Given the description of an element on the screen output the (x, y) to click on. 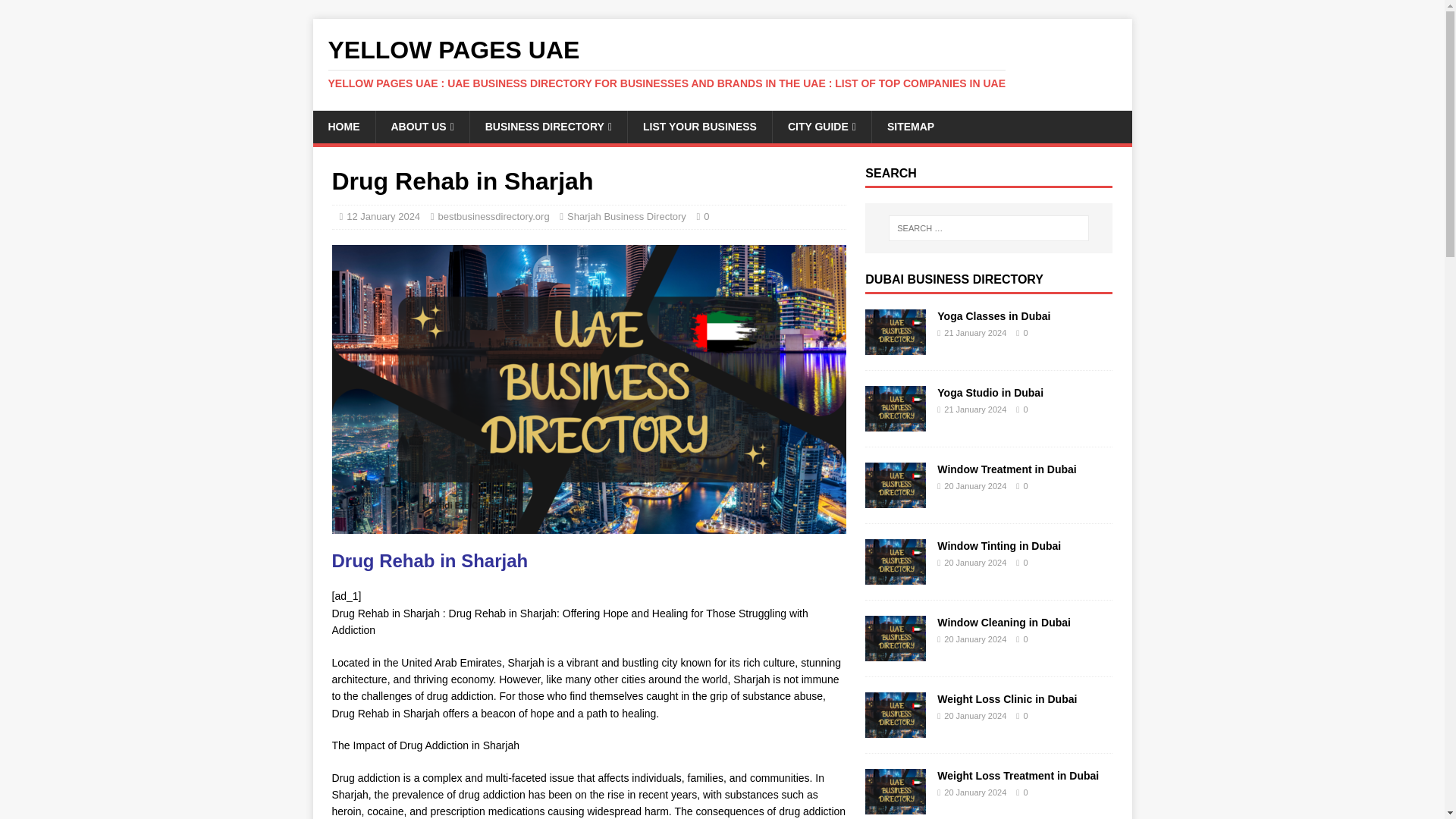
Weight Loss Clinic in Dubai (1007, 698)
Window Cleaning in Dubai (895, 653)
Yoga Studio in Dubai (895, 422)
Window Treatment in Dubai (895, 499)
HOME (343, 126)
Yoga Classes in Dubai (895, 346)
Weight Loss Clinic in Dubai (895, 729)
Window Tinting in Dubai (895, 576)
Window Tinting in Dubai (999, 545)
ABOUT US (421, 126)
0 (706, 215)
Window Treatment in Dubai (1006, 469)
Window Cleaning in Dubai (1003, 622)
